Given the description of an element on the screen output the (x, y) to click on. 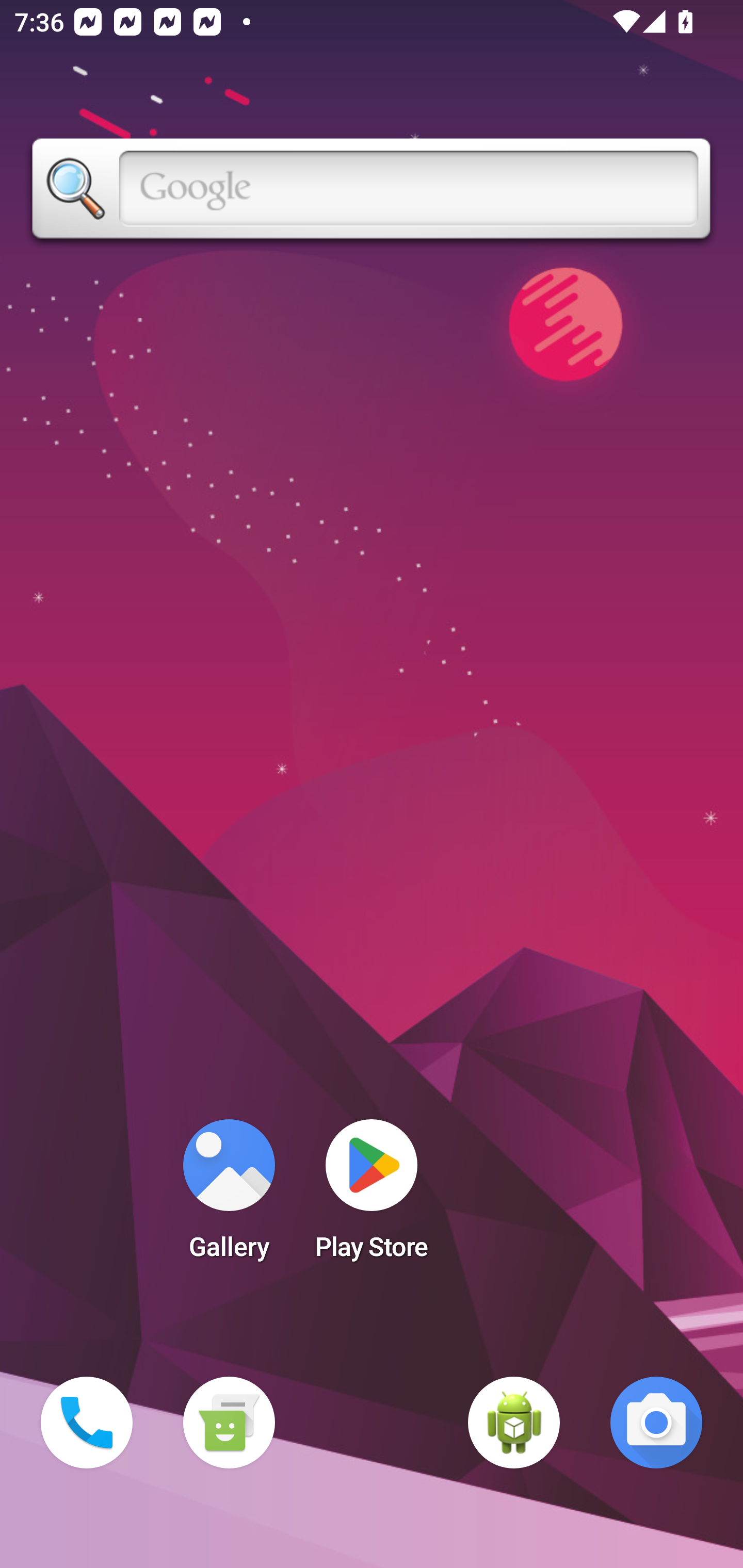
Gallery (228, 1195)
Play Store (371, 1195)
Phone (86, 1422)
Messaging (228, 1422)
WebView Browser Tester (513, 1422)
Camera (656, 1422)
